Given the description of an element on the screen output the (x, y) to click on. 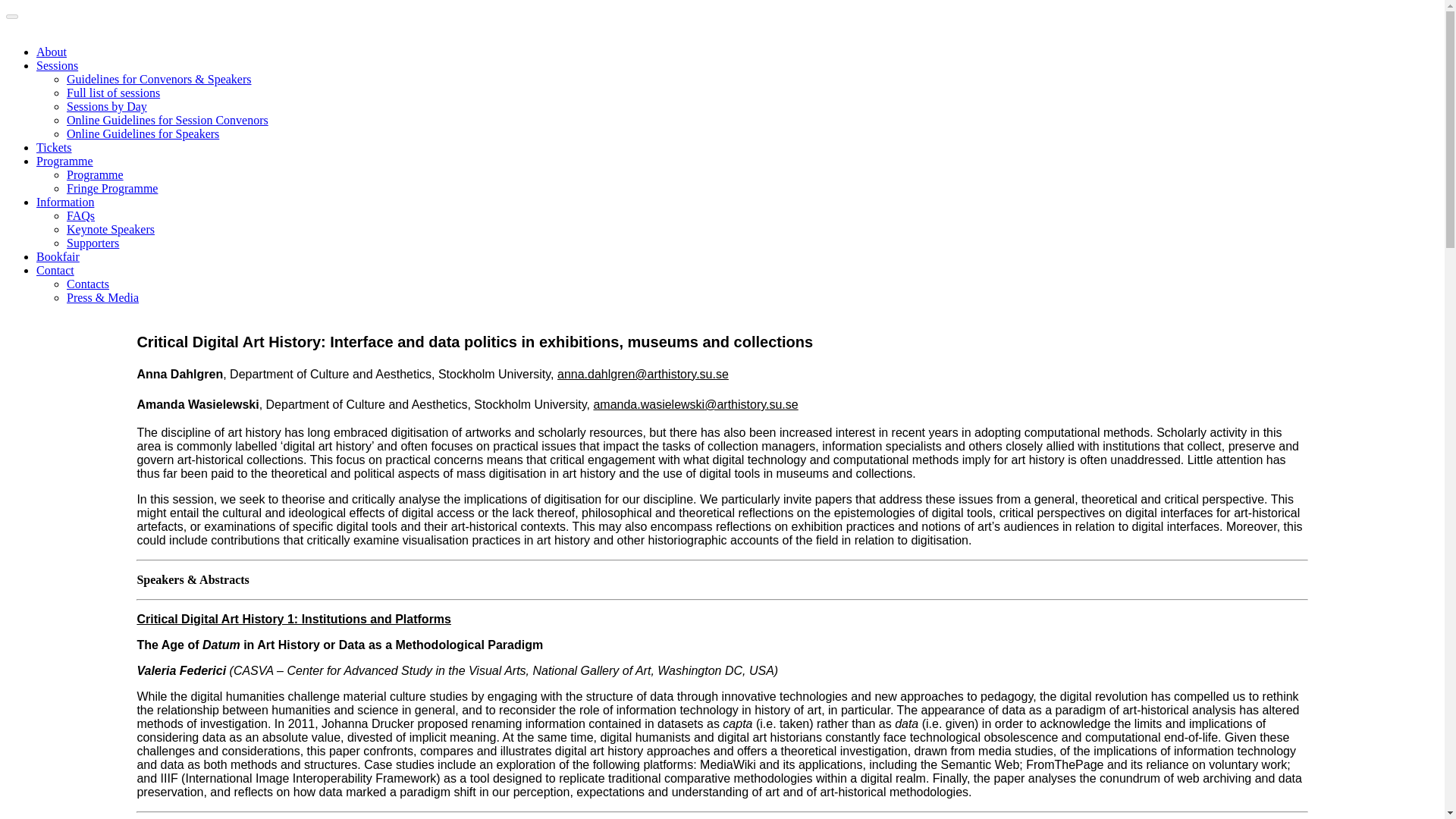
Tickets (53, 146)
Programme (64, 160)
Supporters (92, 242)
FAQs (80, 215)
Online Guidelines for Session Convenors (166, 119)
Contact (55, 269)
Bookfair (58, 256)
About (51, 51)
Online Guidelines for Speakers (142, 133)
Information (65, 201)
